Given the description of an element on the screen output the (x, y) to click on. 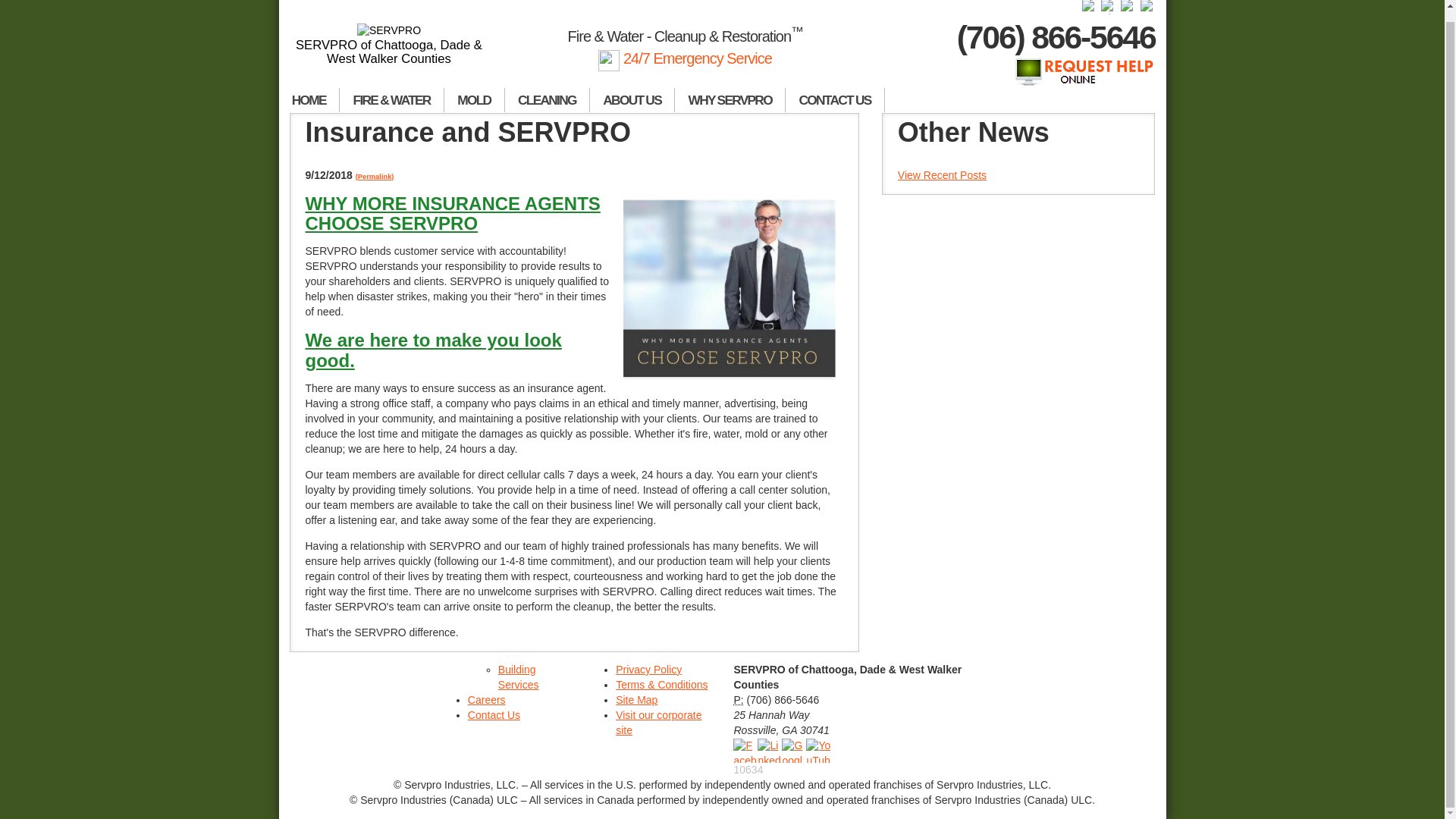
ABOUT US (632, 100)
CLEANING (547, 100)
HOME (309, 100)
MOLD (474, 100)
